Given the description of an element on the screen output the (x, y) to click on. 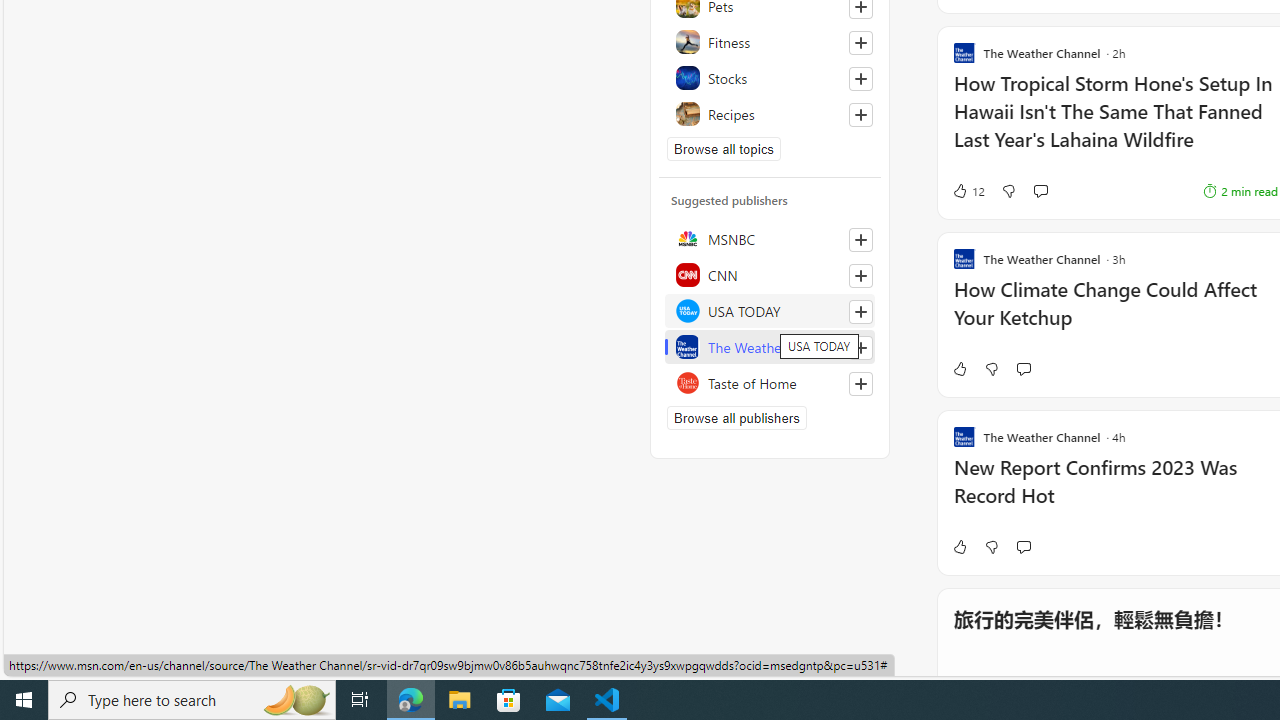
Stocks (770, 78)
Fitness (770, 42)
12 Like (968, 191)
Taste of Home (770, 382)
The Weather Channel (770, 346)
New Report Confirms 2023 Was Record Hot (1115, 491)
